Given the description of an element on the screen output the (x, y) to click on. 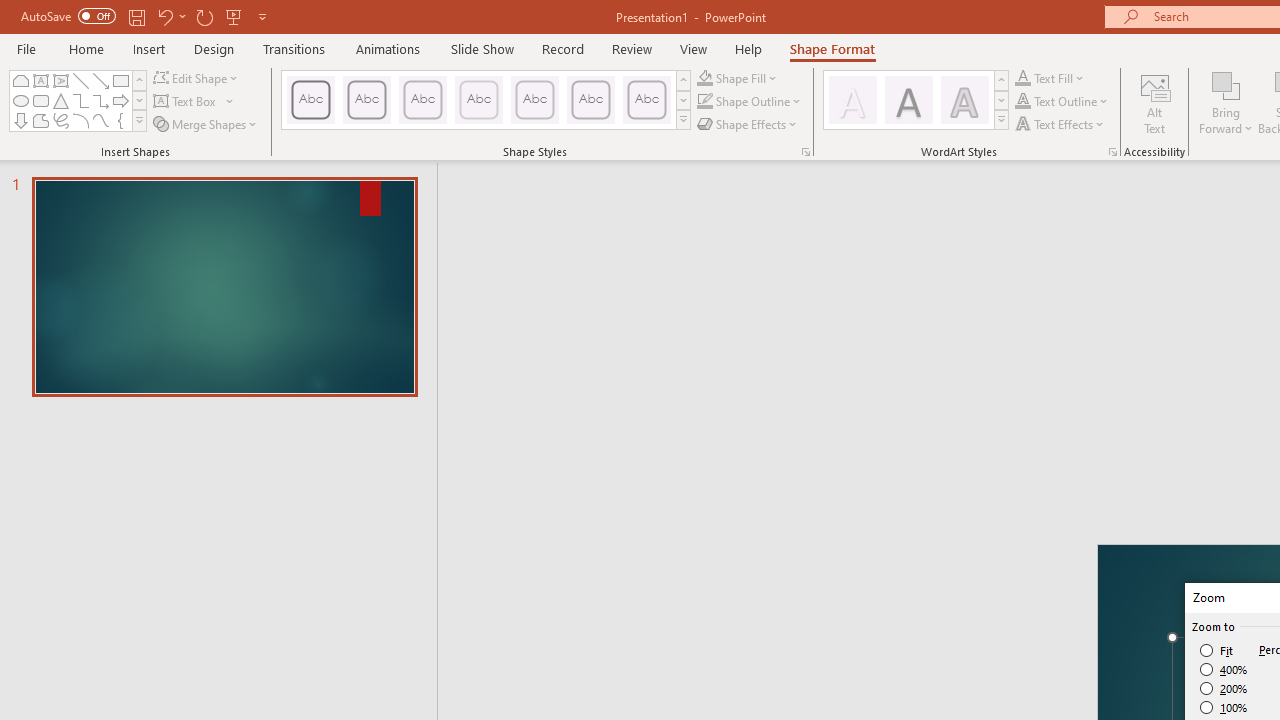
Merge Shapes (206, 124)
Colored Outline - Black, Dark 1 (310, 100)
Fill: Dark Red, Accent color 1; Shadow (908, 100)
Text Fill RGB(0, 0, 0) (1023, 78)
Colored Outline - Dark Red, Accent 1 (367, 100)
Bring Forward (1225, 102)
